Given the description of an element on the screen output the (x, y) to click on. 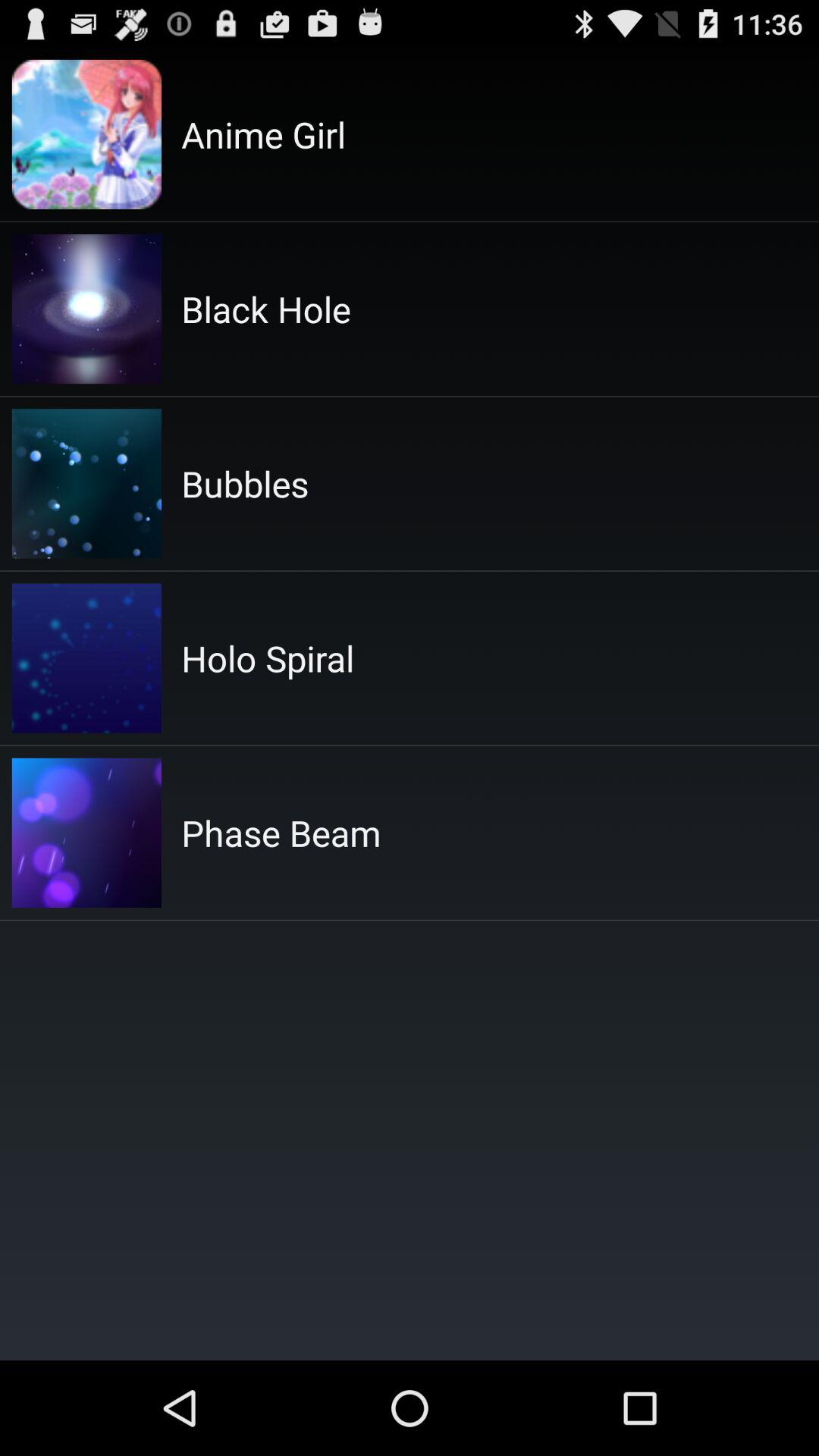
click the anime girl (263, 134)
